Given the description of an element on the screen output the (x, y) to click on. 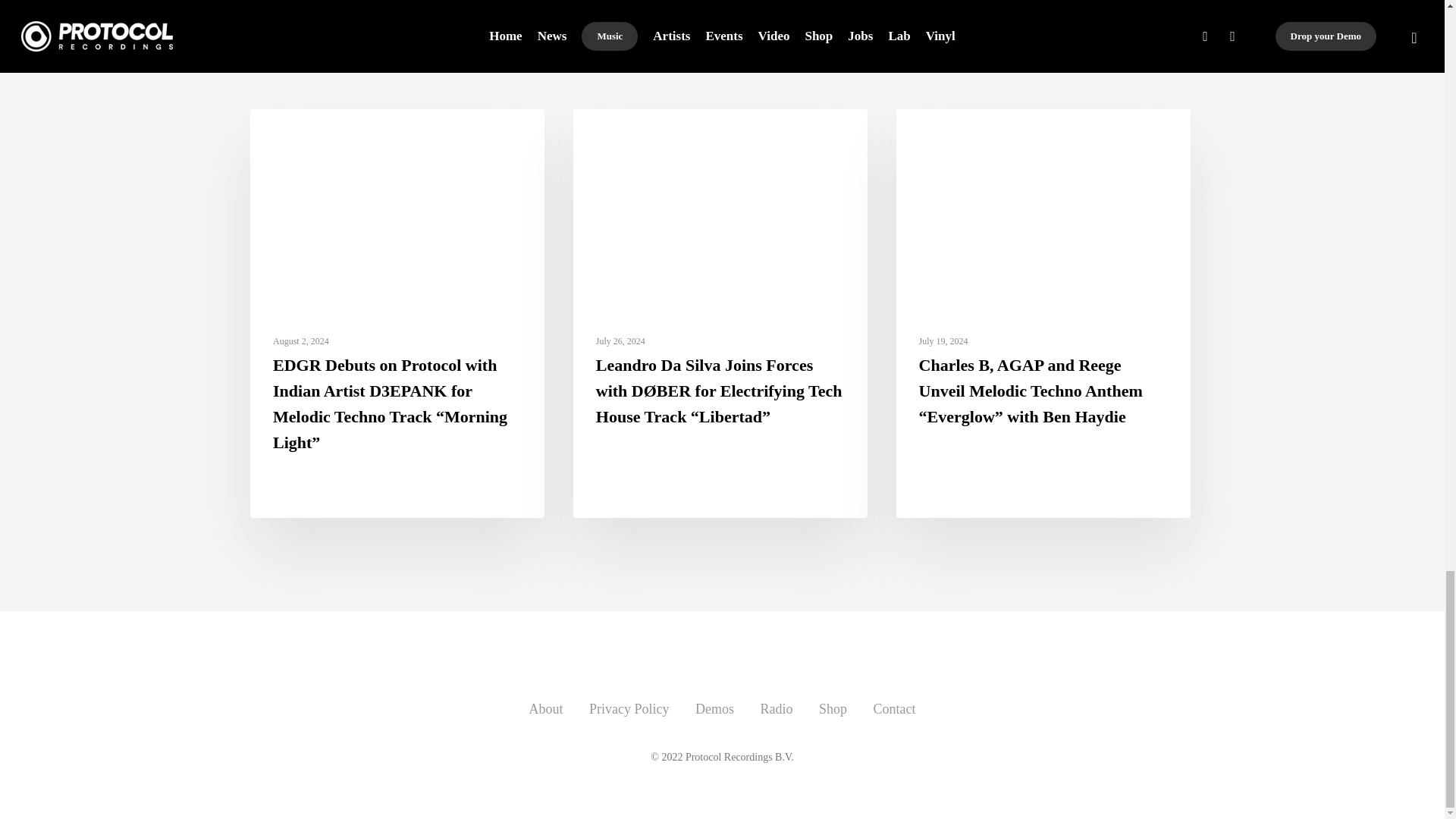
News (285, 133)
